Given the description of an element on the screen output the (x, y) to click on. 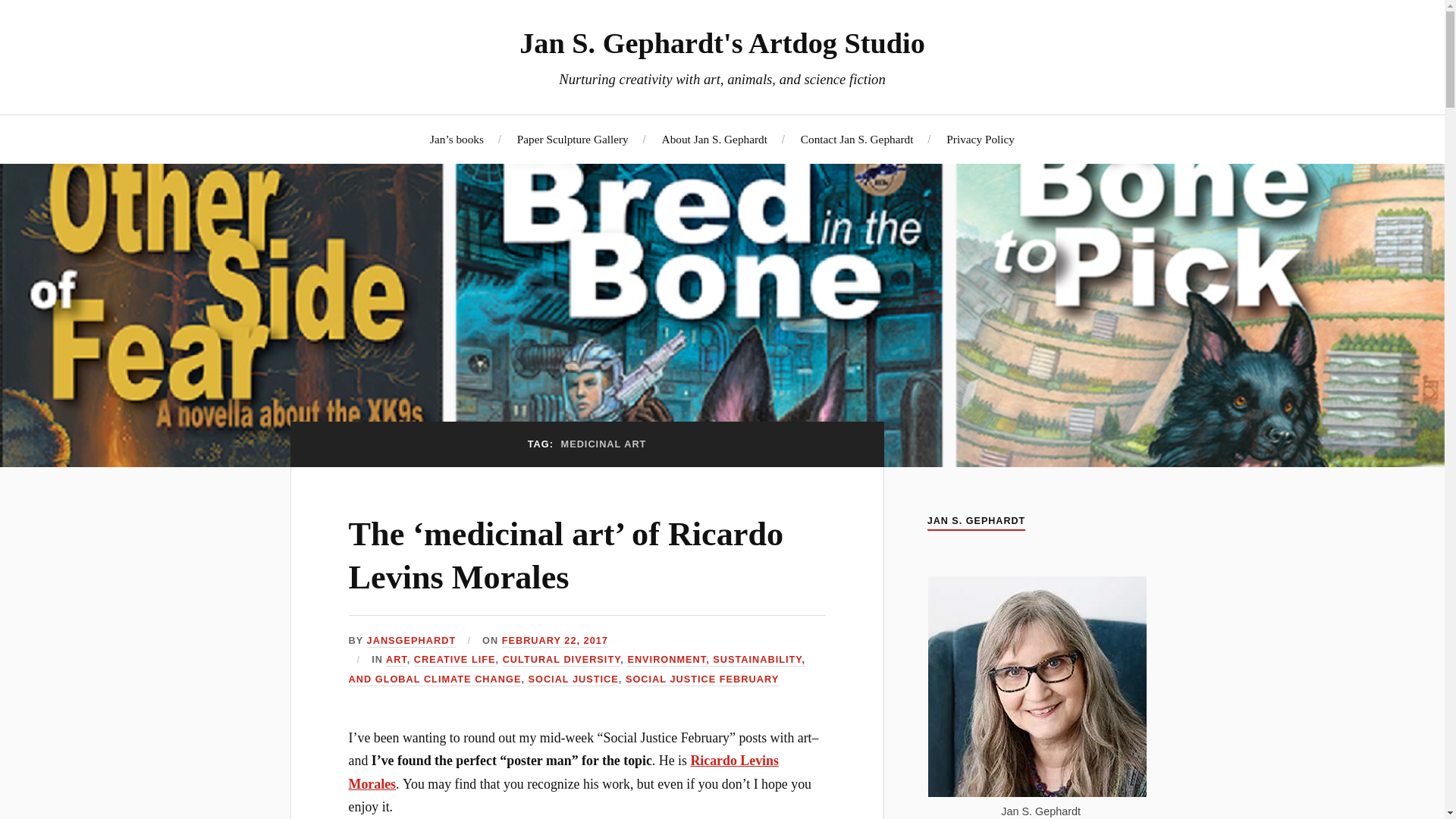
FEBRUARY 22, 2017 (555, 640)
ART (396, 659)
Contact Jan S. Gephardt (857, 138)
Jan S. Gephardt's Artdog Studio (721, 42)
About Jan S. Gephardt (714, 138)
SOCIAL JUSTICE (572, 679)
CULTURAL DIVERSITY (561, 659)
Paper Sculpture Gallery (572, 138)
JANSGEPHARDT (411, 640)
Privacy Policy (980, 138)
ENVIRONMENT, SUSTAINABILITY, AND GLOBAL CLIMATE CHANGE (577, 669)
Posts by jansgephardt (411, 640)
Ricardo Levins Morales (563, 771)
SOCIAL JUSTICE FEBRUARY (702, 679)
CREATIVE LIFE (454, 659)
